Given the description of an element on the screen output the (x, y) to click on. 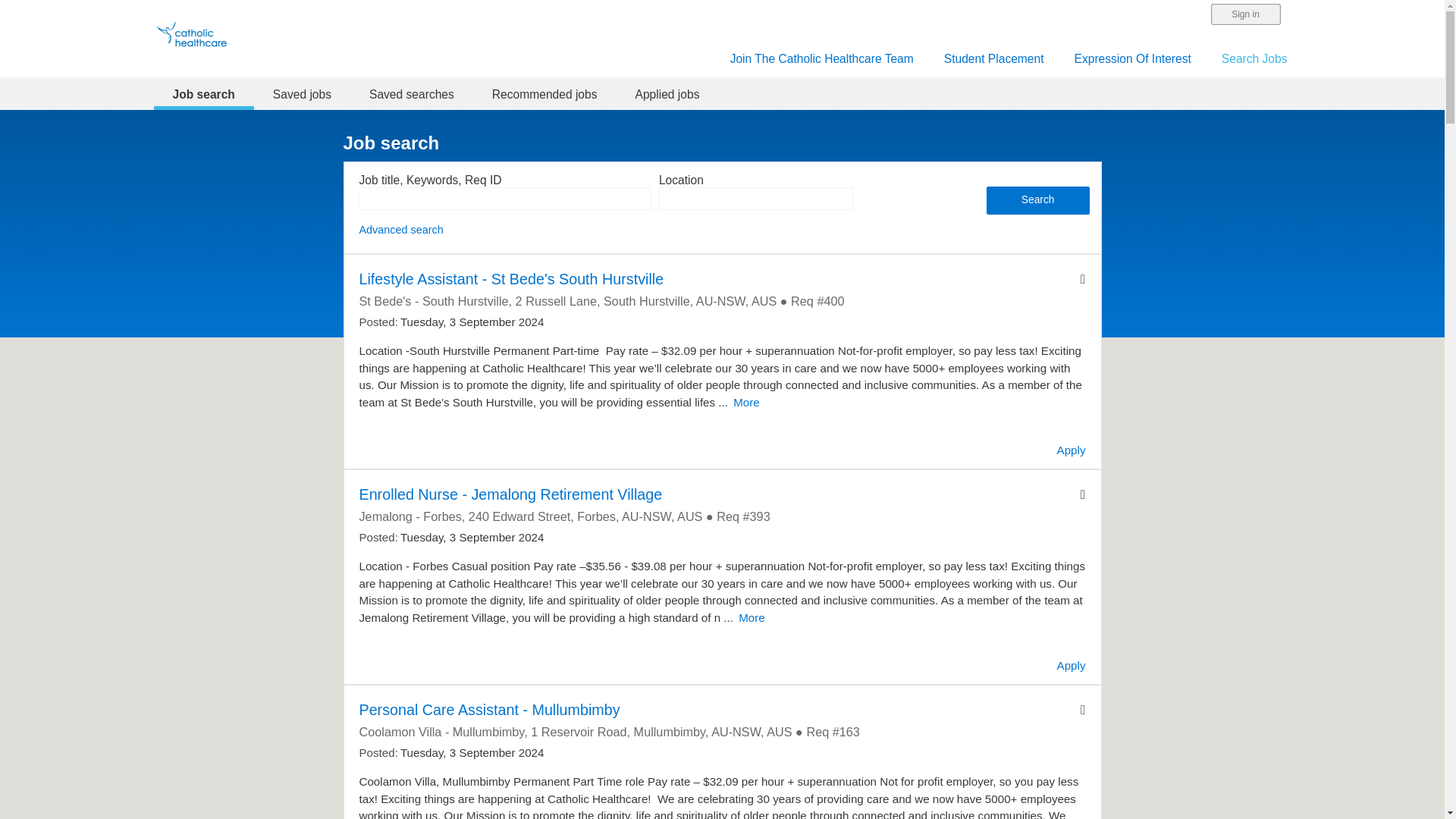
Expression of Interest (1132, 58)
Applied jobs (667, 93)
Job search (203, 93)
Saved searches (411, 93)
Enrolled Nurse - Jemalong Retirement Village (510, 494)
Advanced search (401, 229)
Search (1038, 200)
Expression Of Interest (1132, 58)
Lifestyle Assistant - St Bede's South Hurstville (511, 279)
Sign in (1245, 14)
